Given the description of an element on the screen output the (x, y) to click on. 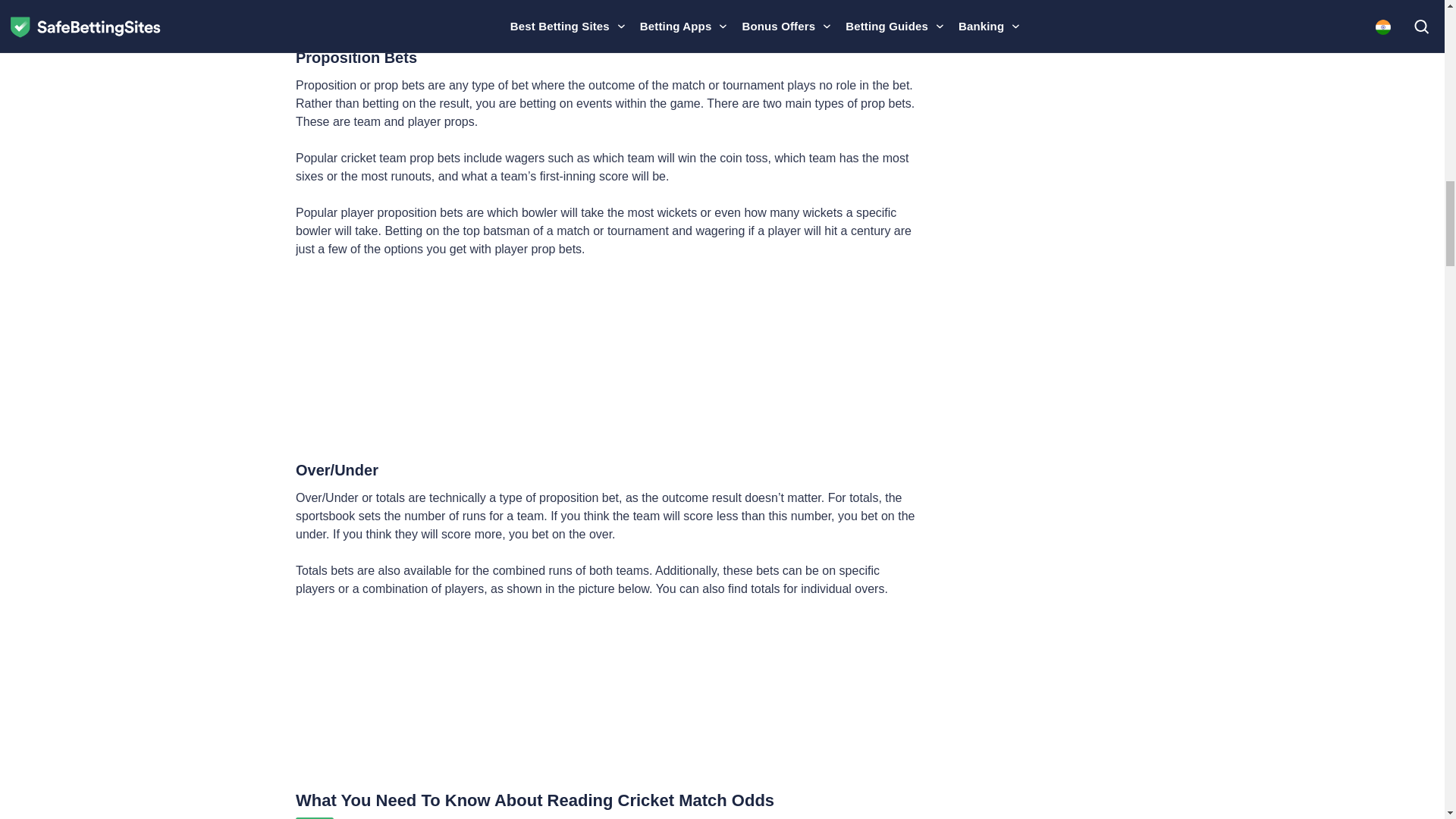
Series winner cricket bet (606, 13)
cricket prop bets india (606, 357)
totals bets cricket (606, 694)
